Given the description of an element on the screen output the (x, y) to click on. 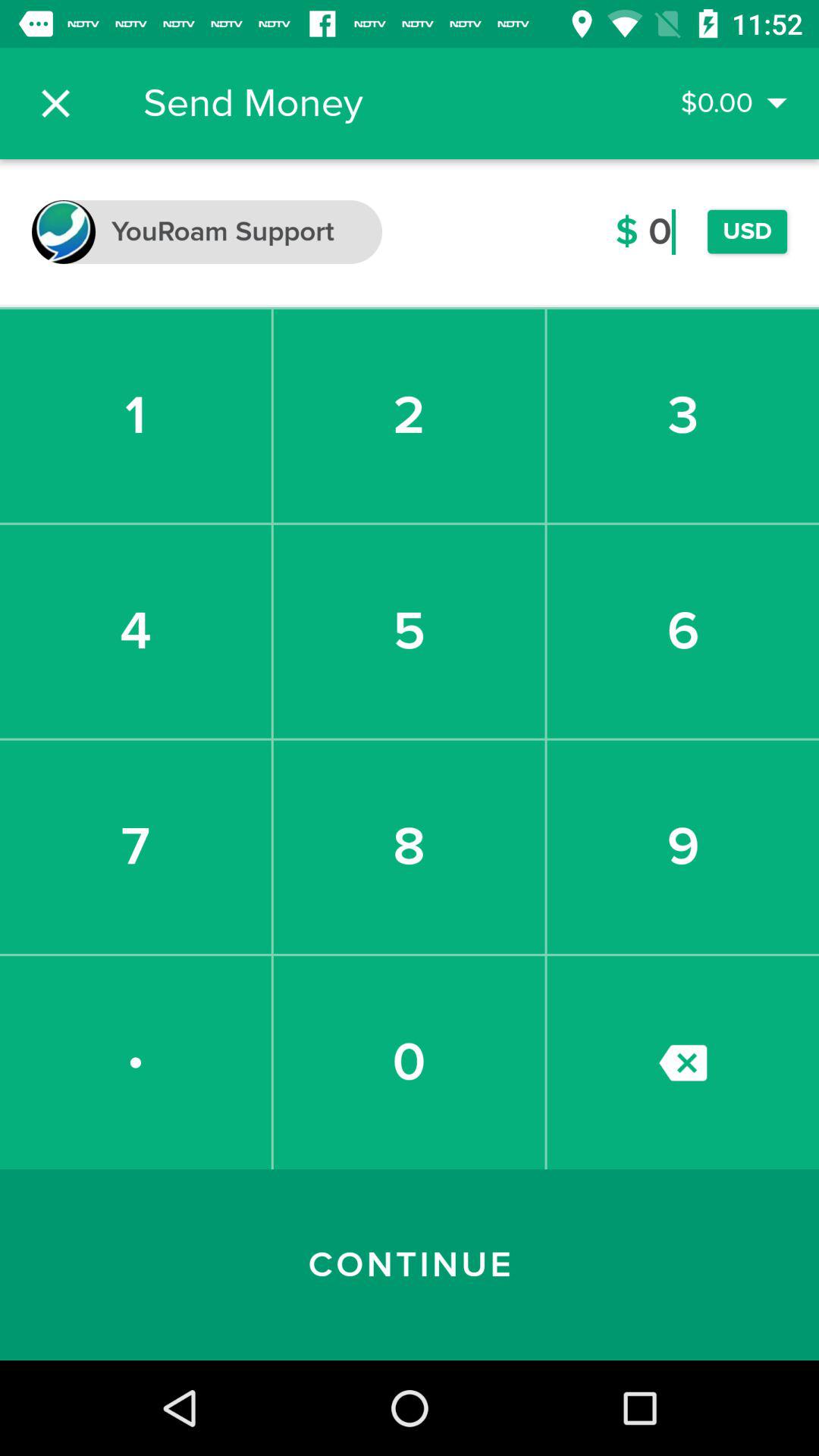
flip to the continue item (409, 1264)
